Given the description of an element on the screen output the (x, y) to click on. 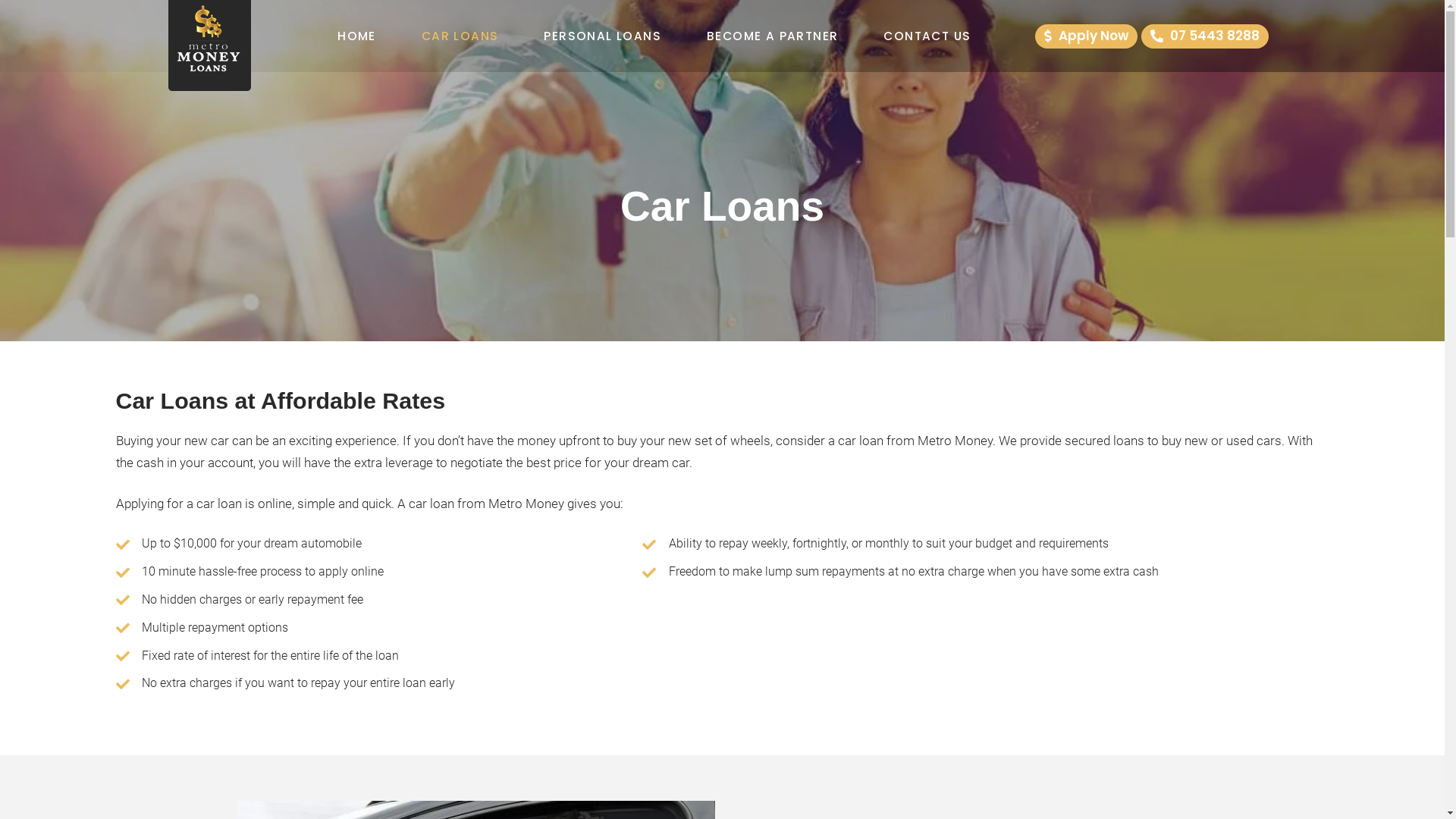
Apply Now Element type: text (1086, 36)
07 5443 8288 Element type: text (1204, 36)
CONTACT US Element type: text (926, 35)
CAR LOANS Element type: text (459, 35)
HOME Element type: text (356, 35)
BECOME A PARTNER Element type: text (771, 35)
PERSONAL LOANS Element type: text (602, 35)
